Given the description of an element on the screen output the (x, y) to click on. 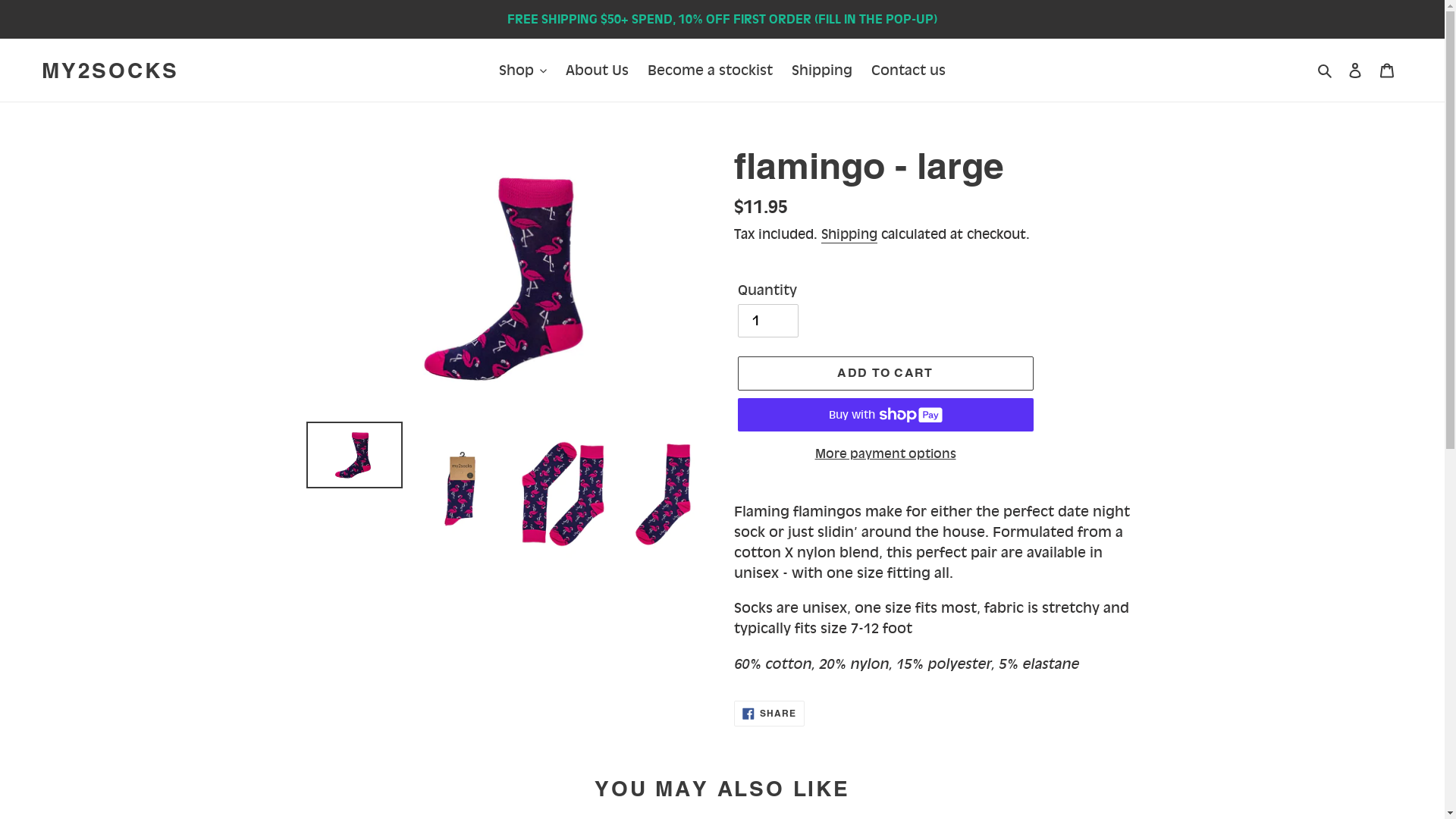
Shipping Element type: text (821, 69)
Search Element type: text (1325, 70)
More payment options Element type: text (884, 453)
Cart Element type: text (1386, 69)
About Us Element type: text (597, 69)
Log in Element type: text (1355, 69)
Become a stockist Element type: text (710, 69)
MY2SOCKS Element type: text (109, 70)
SHARE
SHARE ON FACEBOOK Element type: text (769, 713)
ADD TO CART Element type: text (884, 372)
Shop Element type: text (522, 69)
Contact us Element type: text (908, 69)
Shipping Element type: text (848, 234)
